Given the description of an element on the screen output the (x, y) to click on. 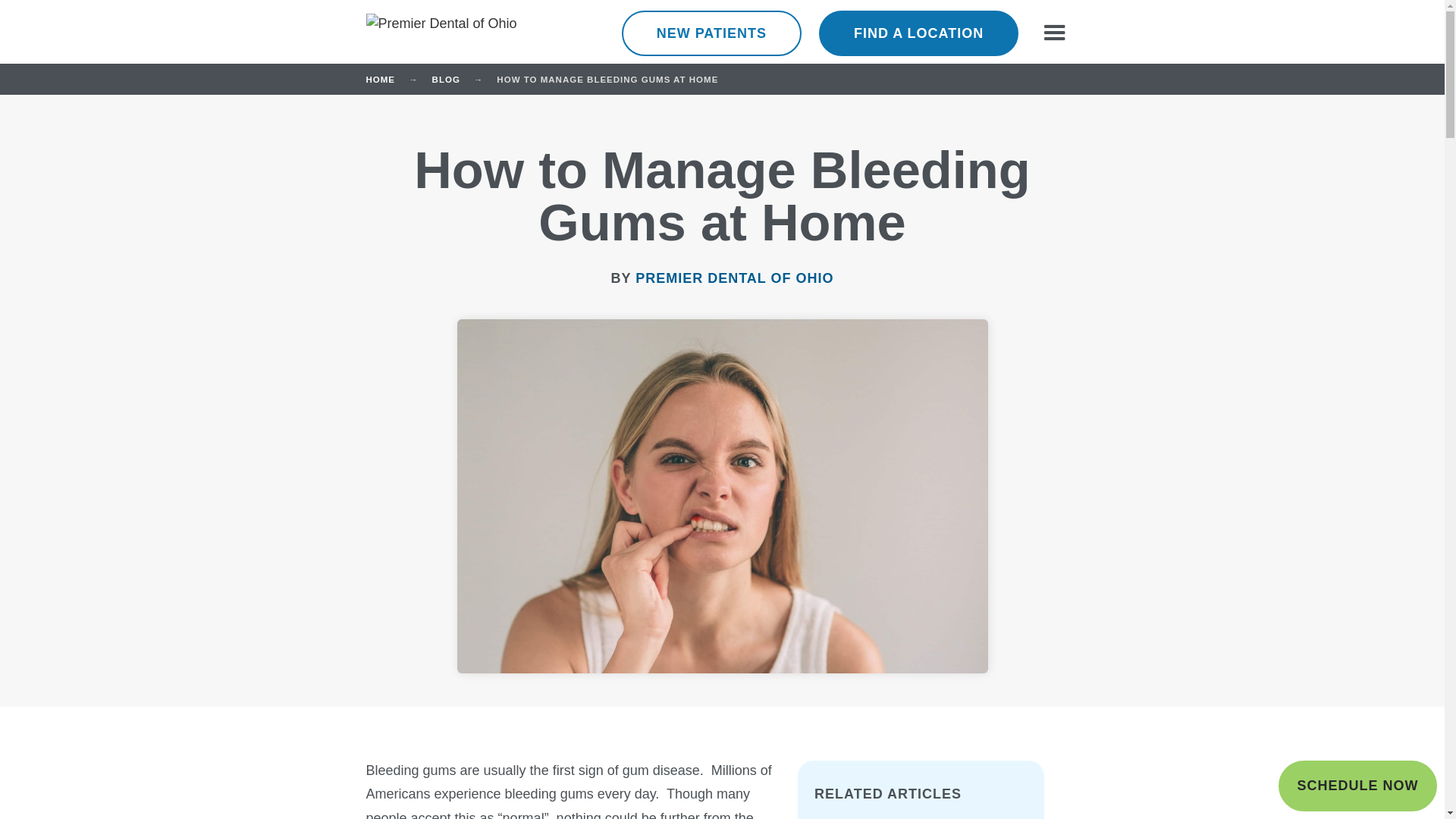
FIND A LOCATION (917, 33)
HOME (387, 79)
PREMIER DENTAL OF OHIO (733, 278)
BLOG (453, 79)
NEW PATIENTS (711, 33)
